Given the description of an element on the screen output the (x, y) to click on. 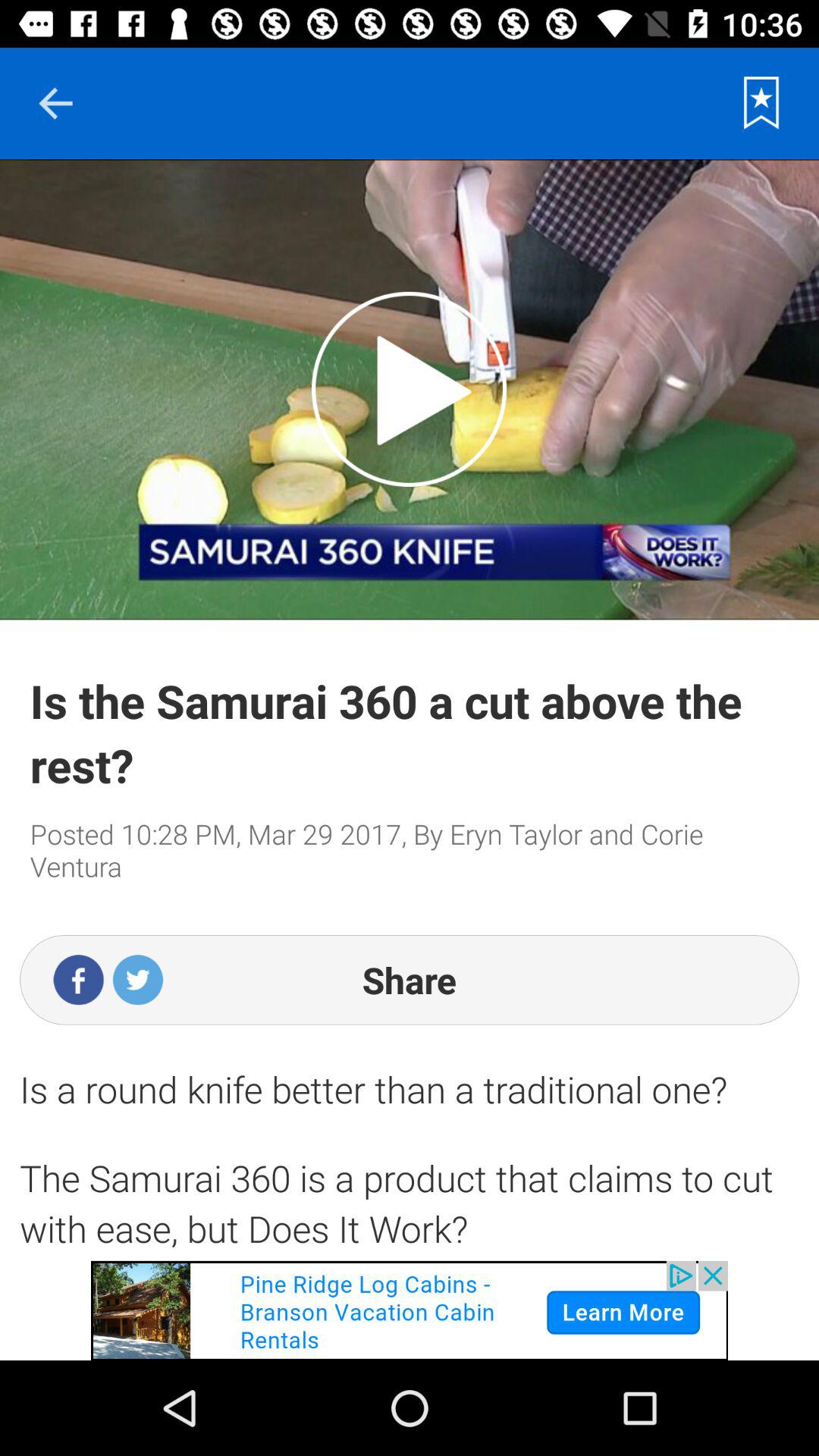
back button (55, 103)
